Given the description of an element on the screen output the (x, y) to click on. 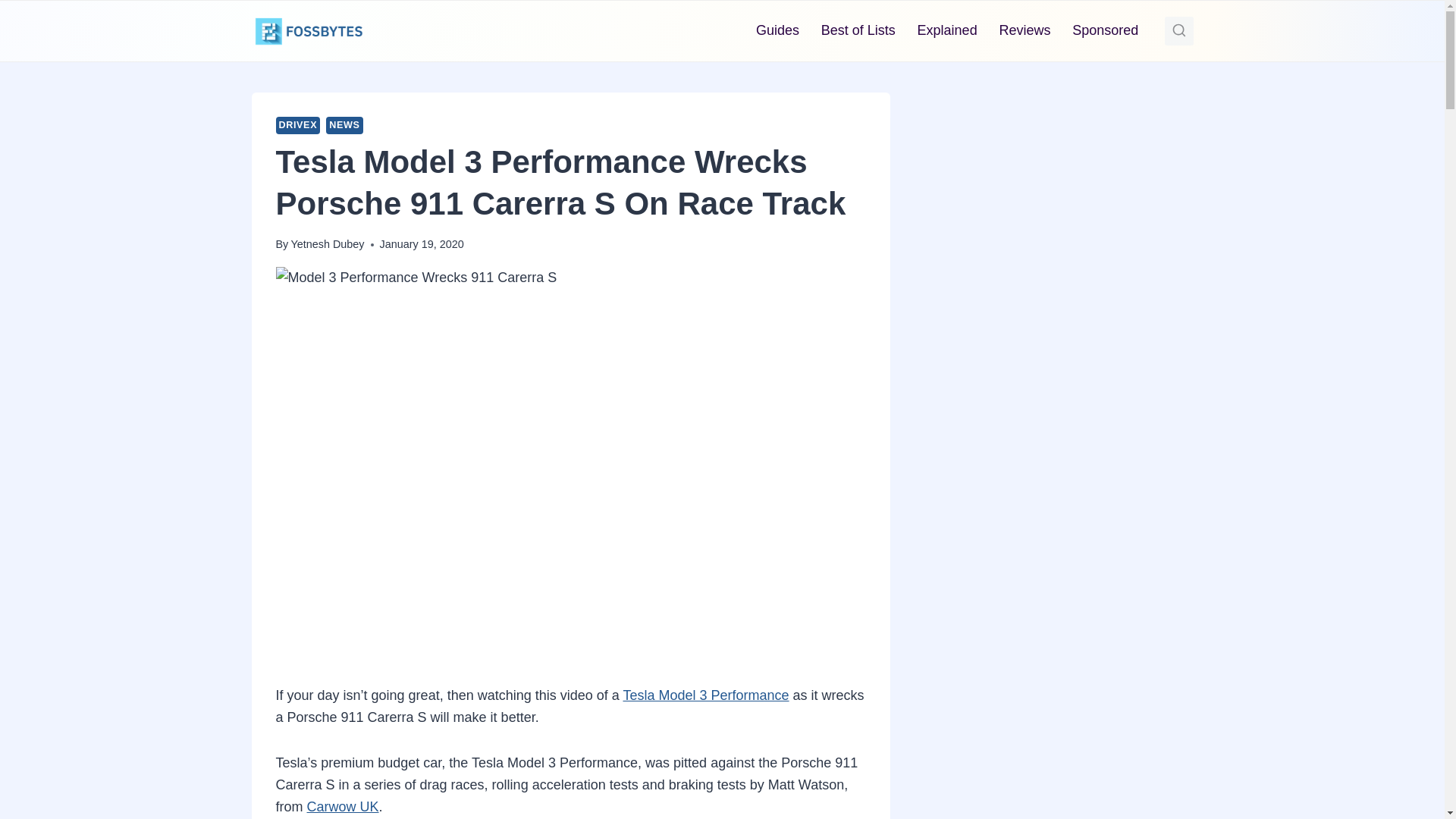
Yetnesh Dubey (326, 274)
Guides (777, 30)
DriveX (332, 124)
Home (291, 124)
Reviews (1024, 30)
Best of Lists (857, 30)
NEWS (344, 155)
Explained (946, 30)
Tesla Model 3 Performance (706, 725)
Sponsored (1105, 30)
DRIVEX (298, 155)
